Given the description of an element on the screen output the (x, y) to click on. 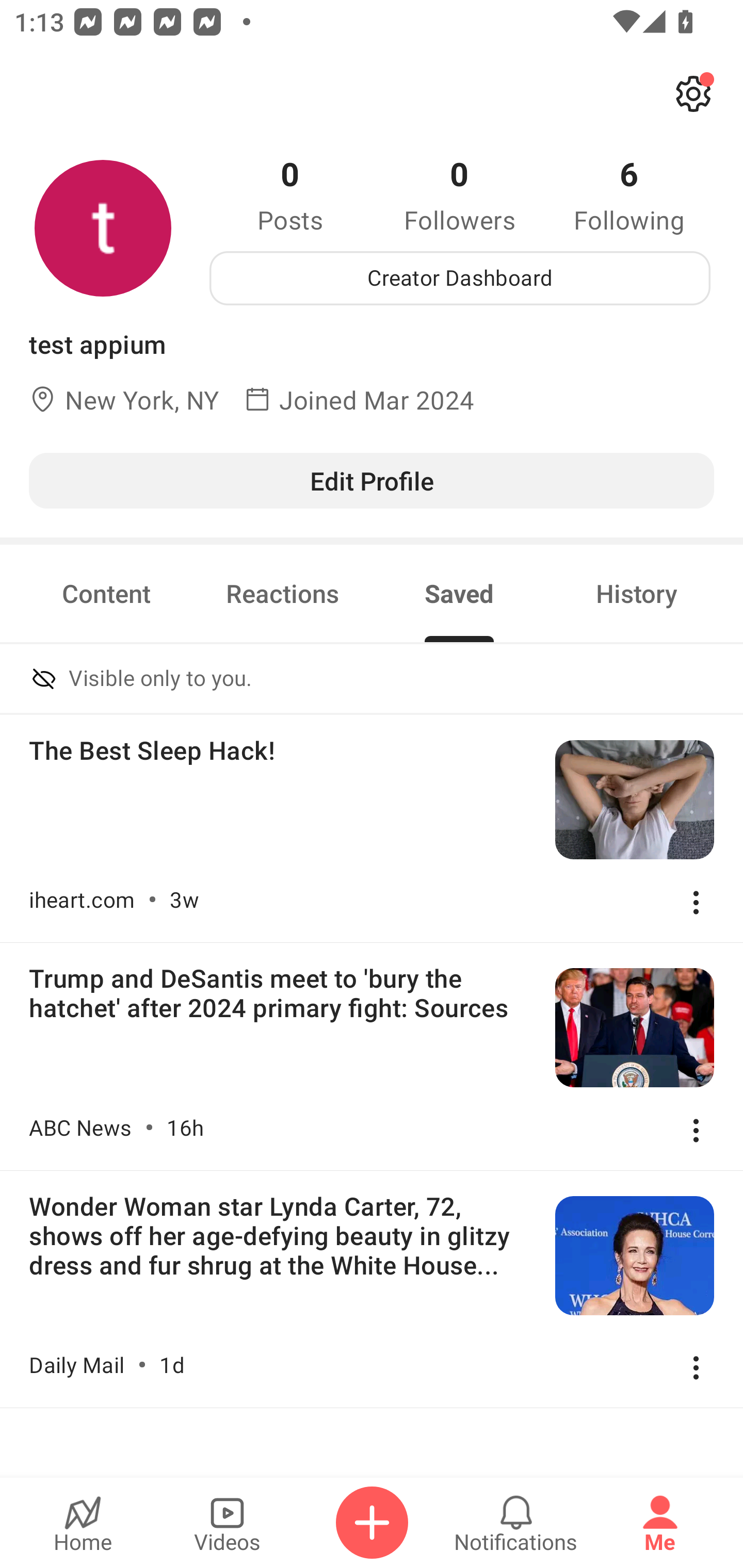
0 Followers (459, 194)
6 Following (629, 194)
Creator Dashboard (459, 277)
Edit Profile (371, 480)
Content (105, 593)
Reactions (282, 593)
History (636, 593)
The Best Sleep Hack! iheart.com 3w (371, 828)
Home (83, 1522)
Videos (227, 1522)
Notifications (516, 1522)
